Given the description of an element on the screen output the (x, y) to click on. 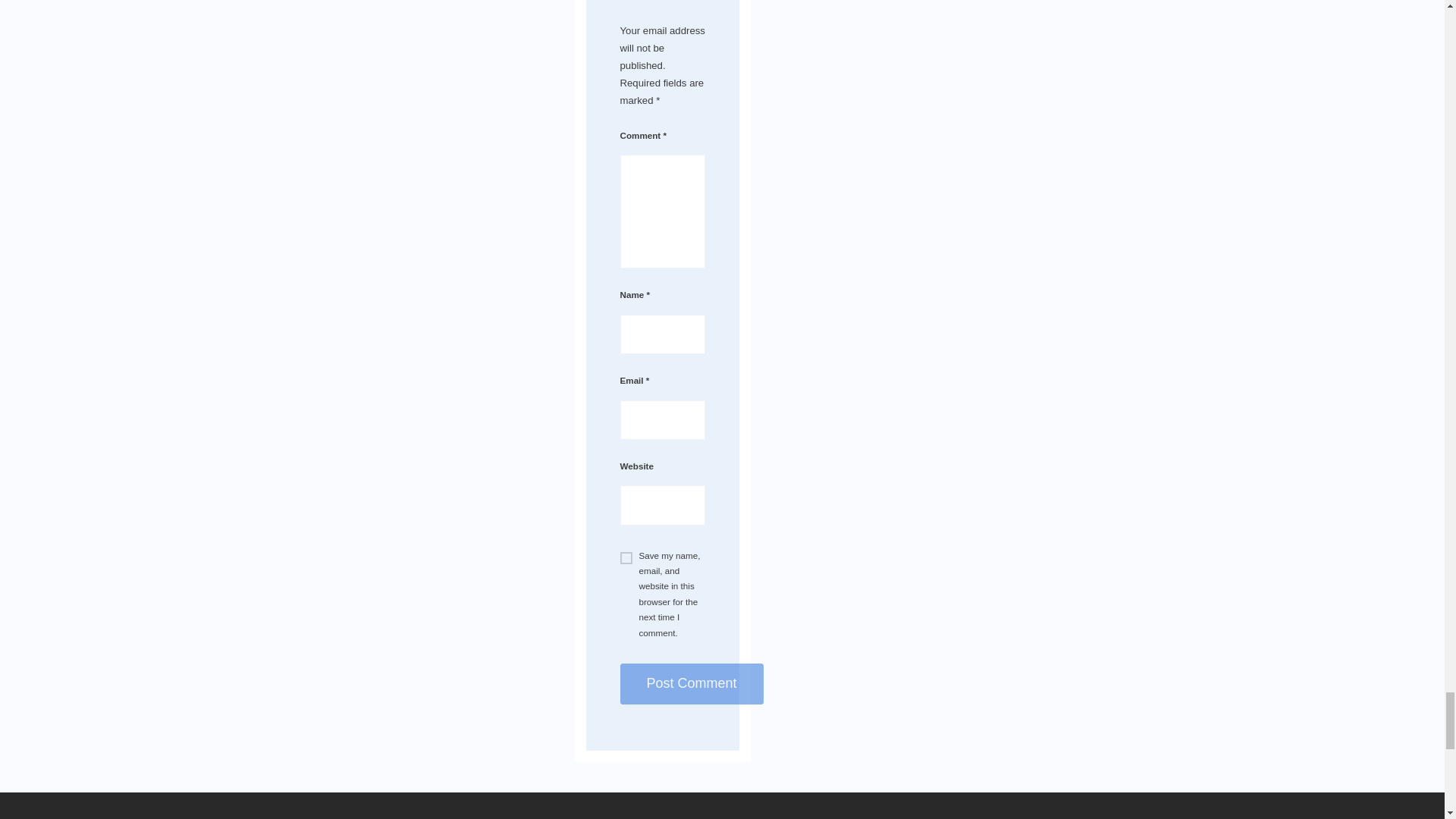
Post Comment (691, 683)
